Given the description of an element on the screen output the (x, y) to click on. 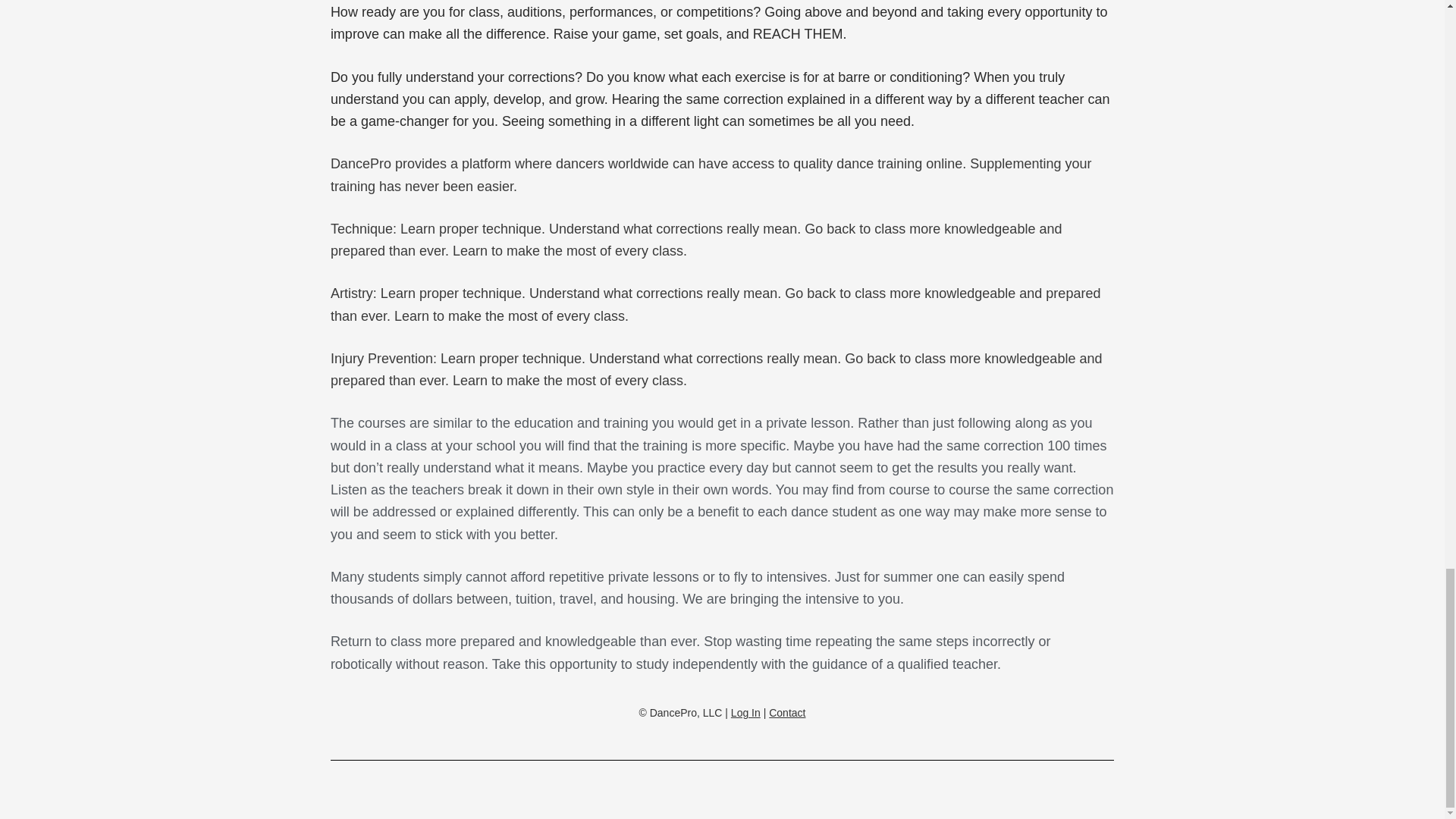
Contact (786, 712)
Log In (745, 712)
